Given the description of an element on the screen output the (x, y) to click on. 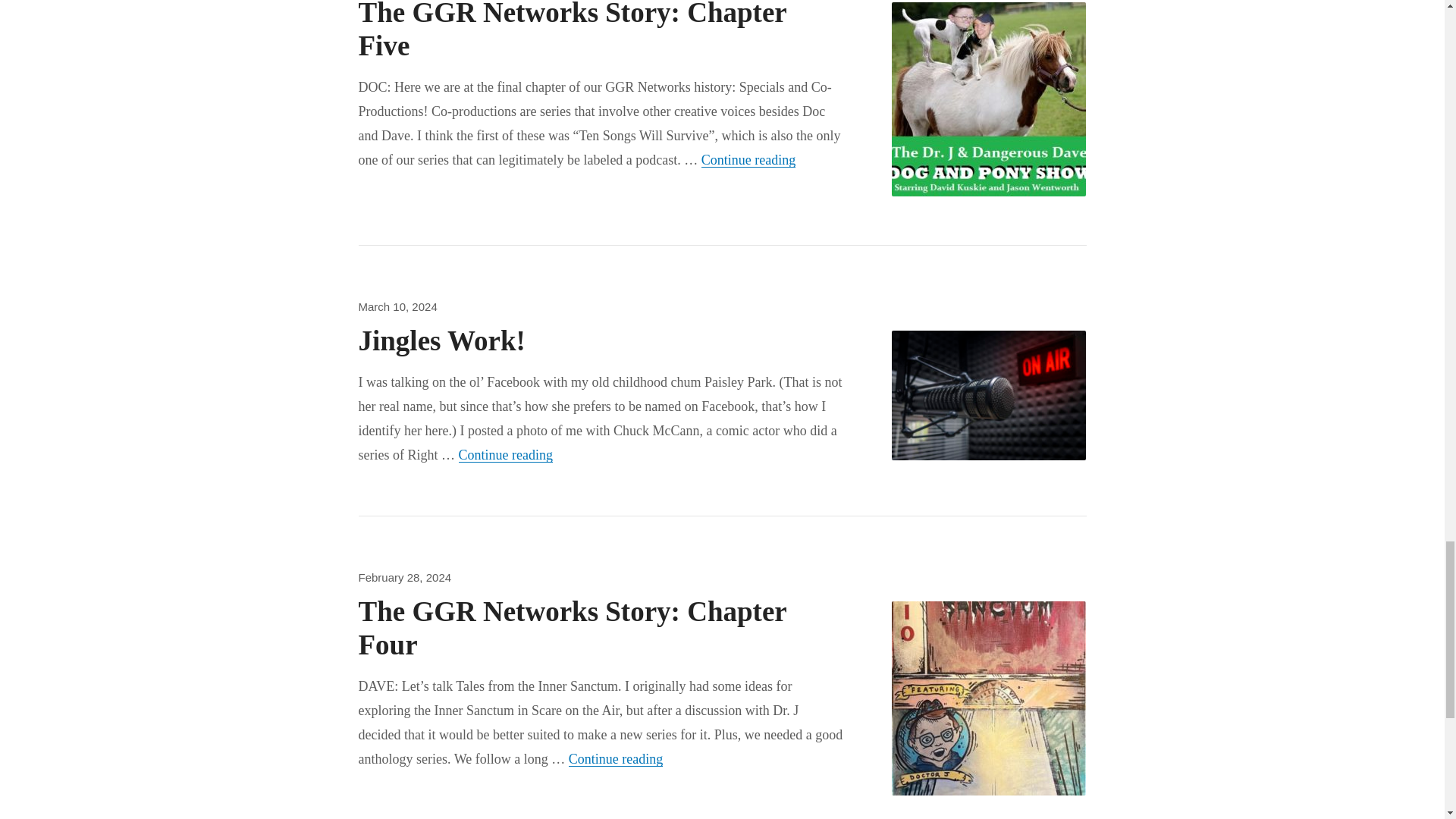
March 10, 2024 (397, 306)
February 28, 2024 (404, 576)
Jingles Work! (747, 159)
The GGR Networks Story: Chapter Five (441, 340)
The GGR Networks Story: Chapter Four (572, 30)
